Given the description of an element on the screen output the (x, y) to click on. 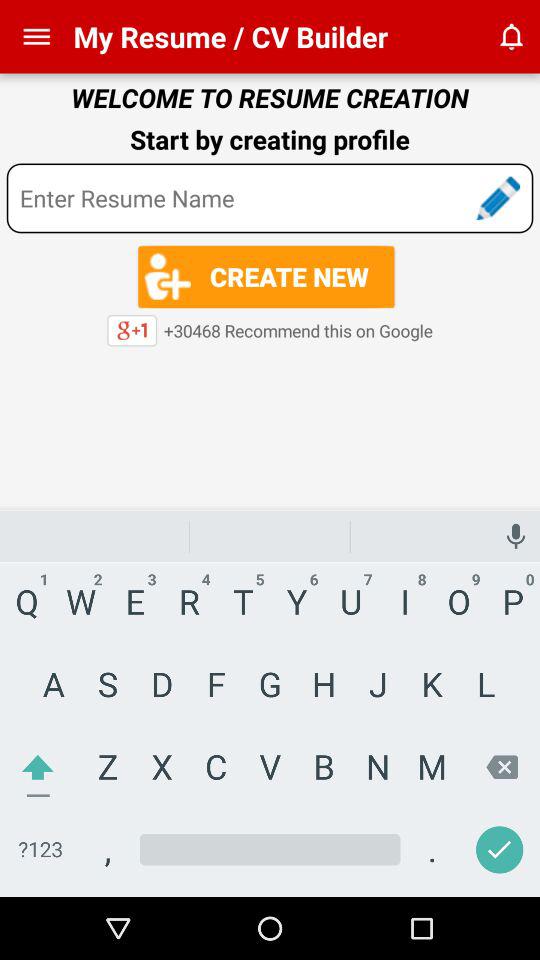
enter name (269, 198)
